Given the description of an element on the screen output the (x, y) to click on. 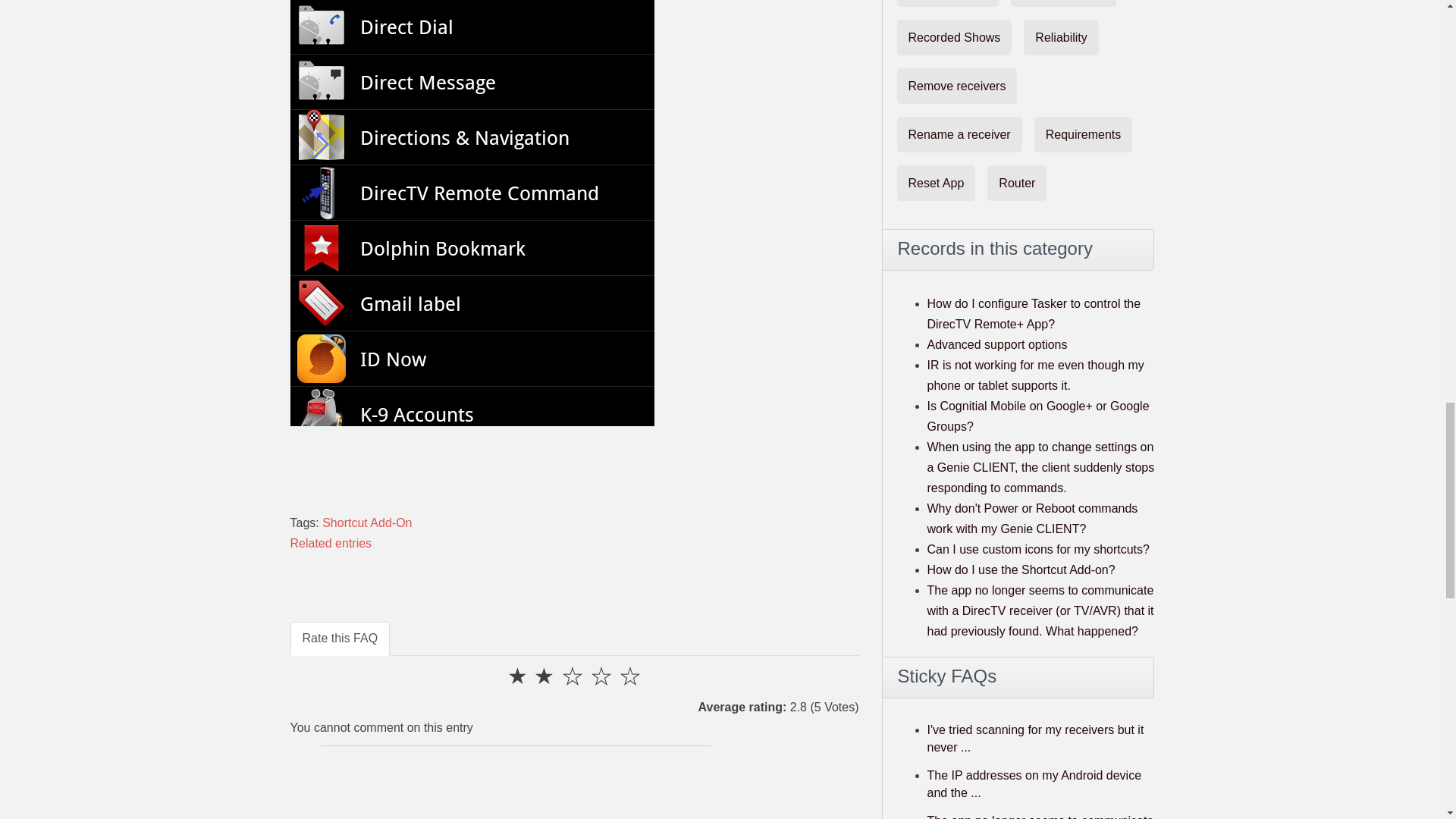
Related entries (330, 543)
Shortcut Add-On (366, 522)
Rate this FAQ (339, 638)
Shortcut Add-On (366, 522)
